Given the description of an element on the screen output the (x, y) to click on. 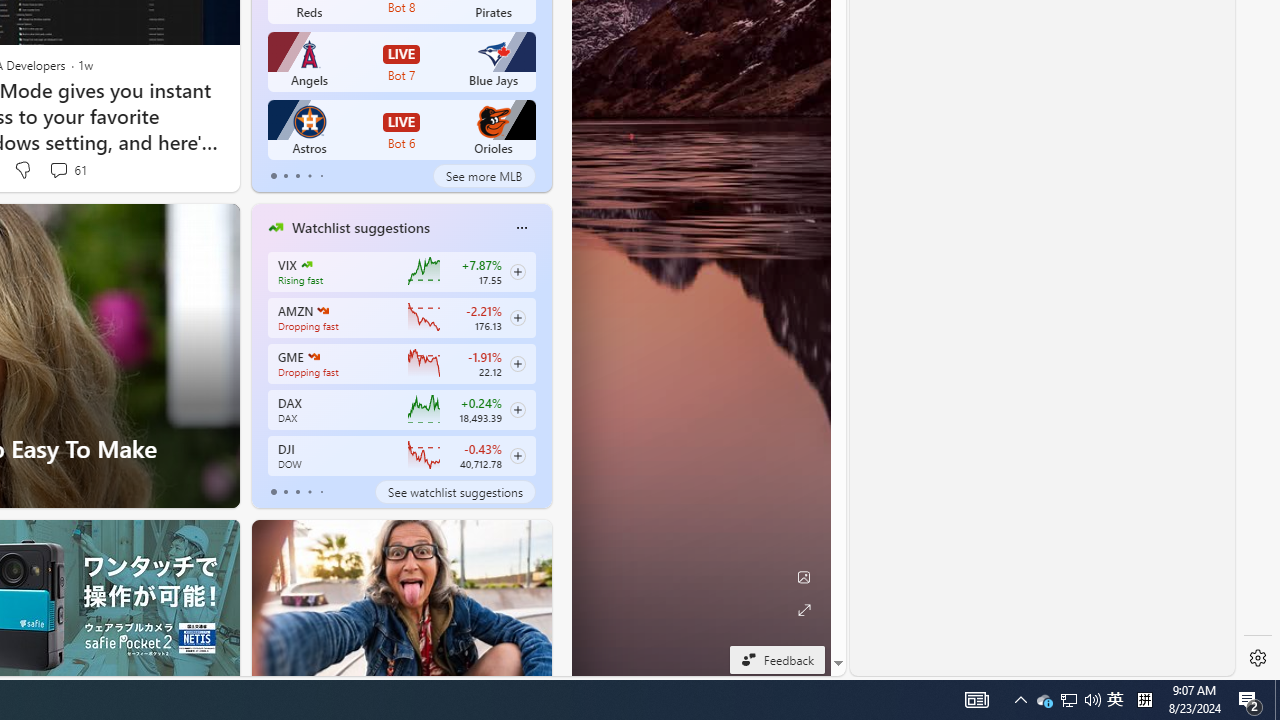
CBOE Market Volatility Index (306, 264)
Watchlist suggestions (360, 227)
tab-4 (320, 491)
Class: icon-img (521, 228)
Expand background (803, 610)
View comments 61 Comment (58, 169)
Class: follow-button  m (517, 455)
AMAZON.COM, INC. (322, 310)
GAMESTOP CORP. (313, 356)
tab-0 (273, 491)
Edit Background (803, 577)
tab-2 (297, 491)
